Given the description of an element on the screen output the (x, y) to click on. 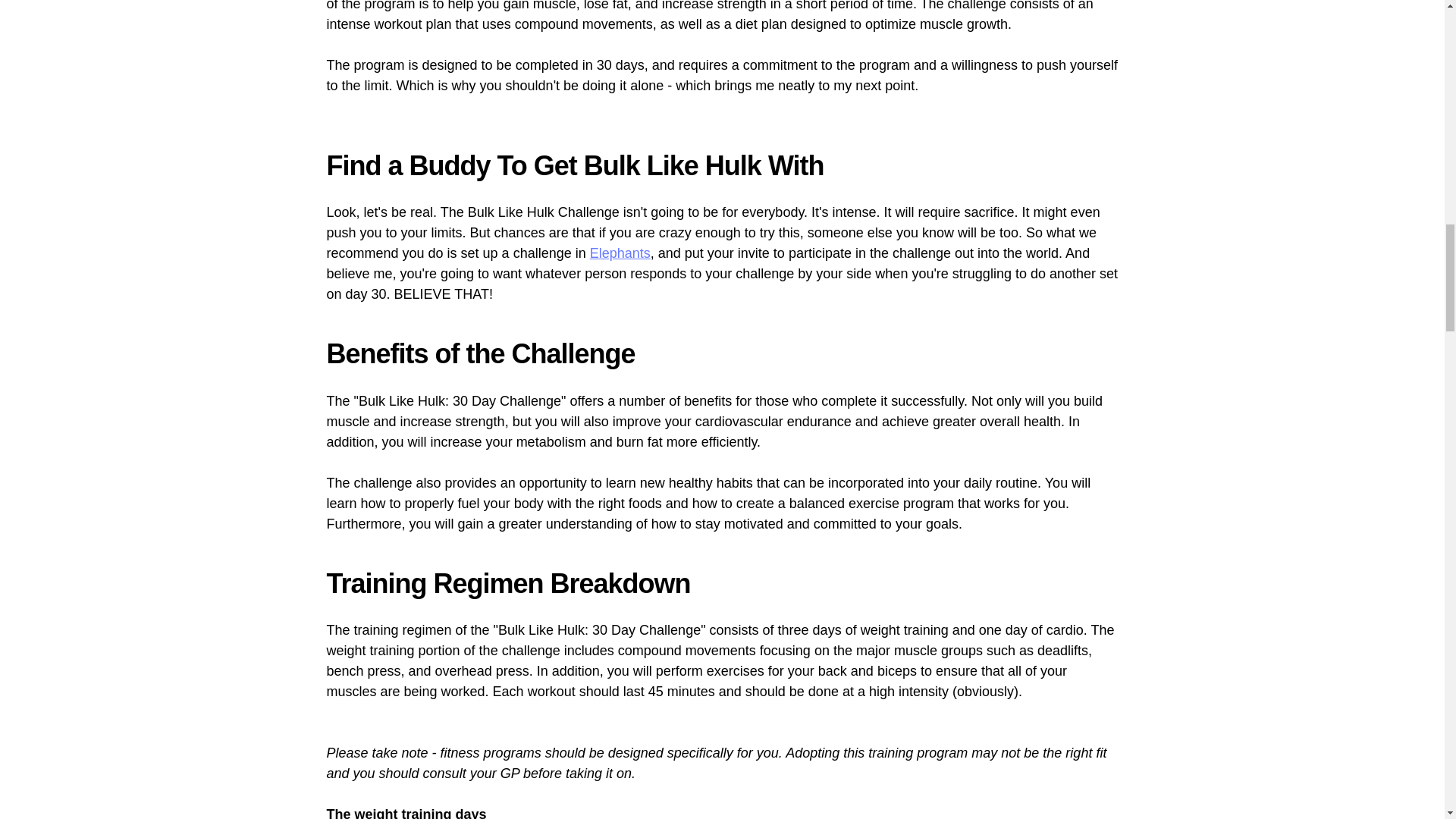
Elephants (619, 253)
